Given the description of an element on the screen output the (x, y) to click on. 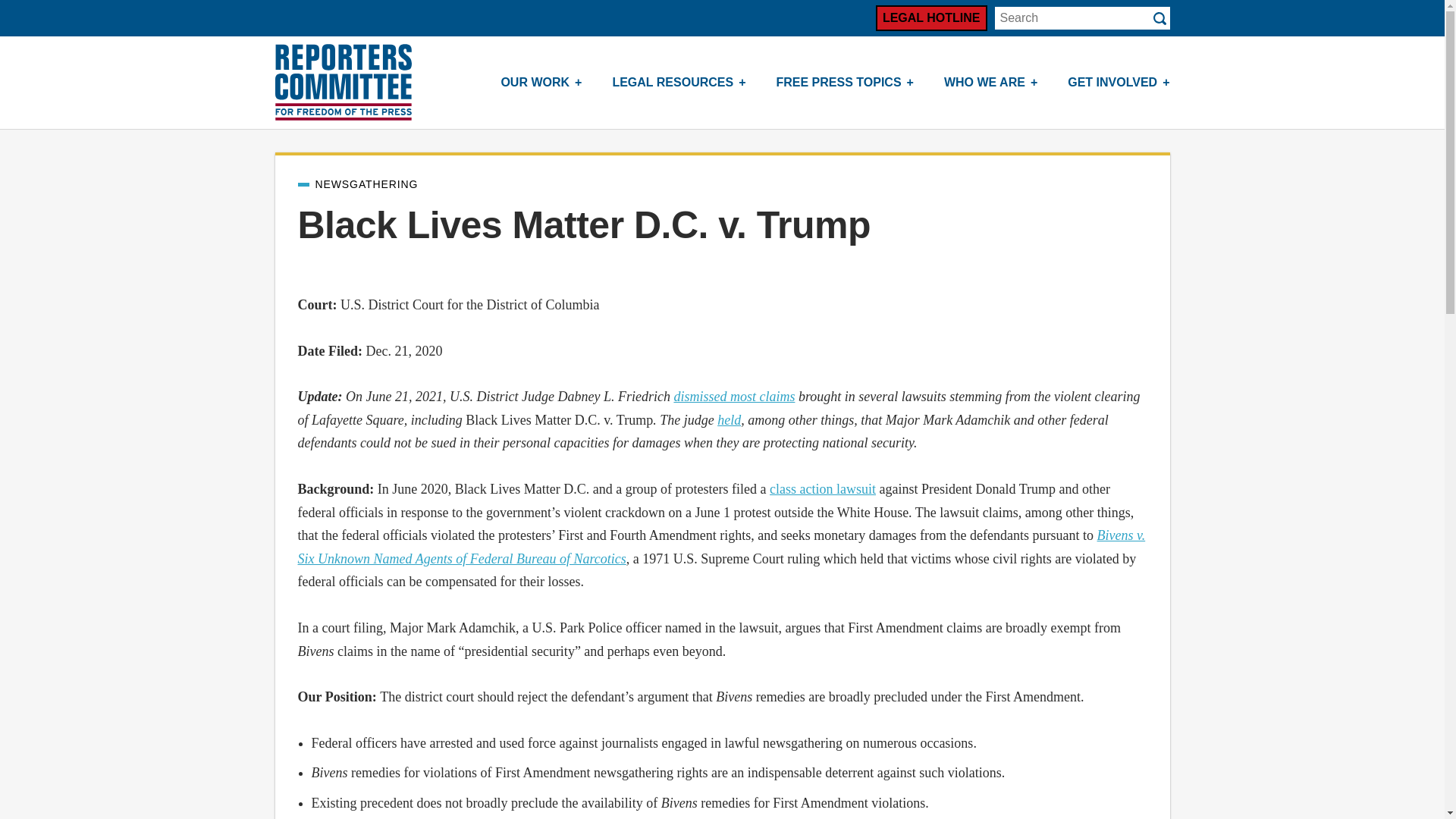
LEGAL RESOURCES (678, 82)
LEGAL HOTLINE (931, 17)
FREE PRESS TOPICS (844, 82)
Submit (1159, 18)
GET INVOLVED (1118, 82)
OUR WORK (540, 82)
Reporters Committee for Freedom of the Press homepage (342, 82)
WHO WE ARE (990, 82)
